Given the description of an element on the screen output the (x, y) to click on. 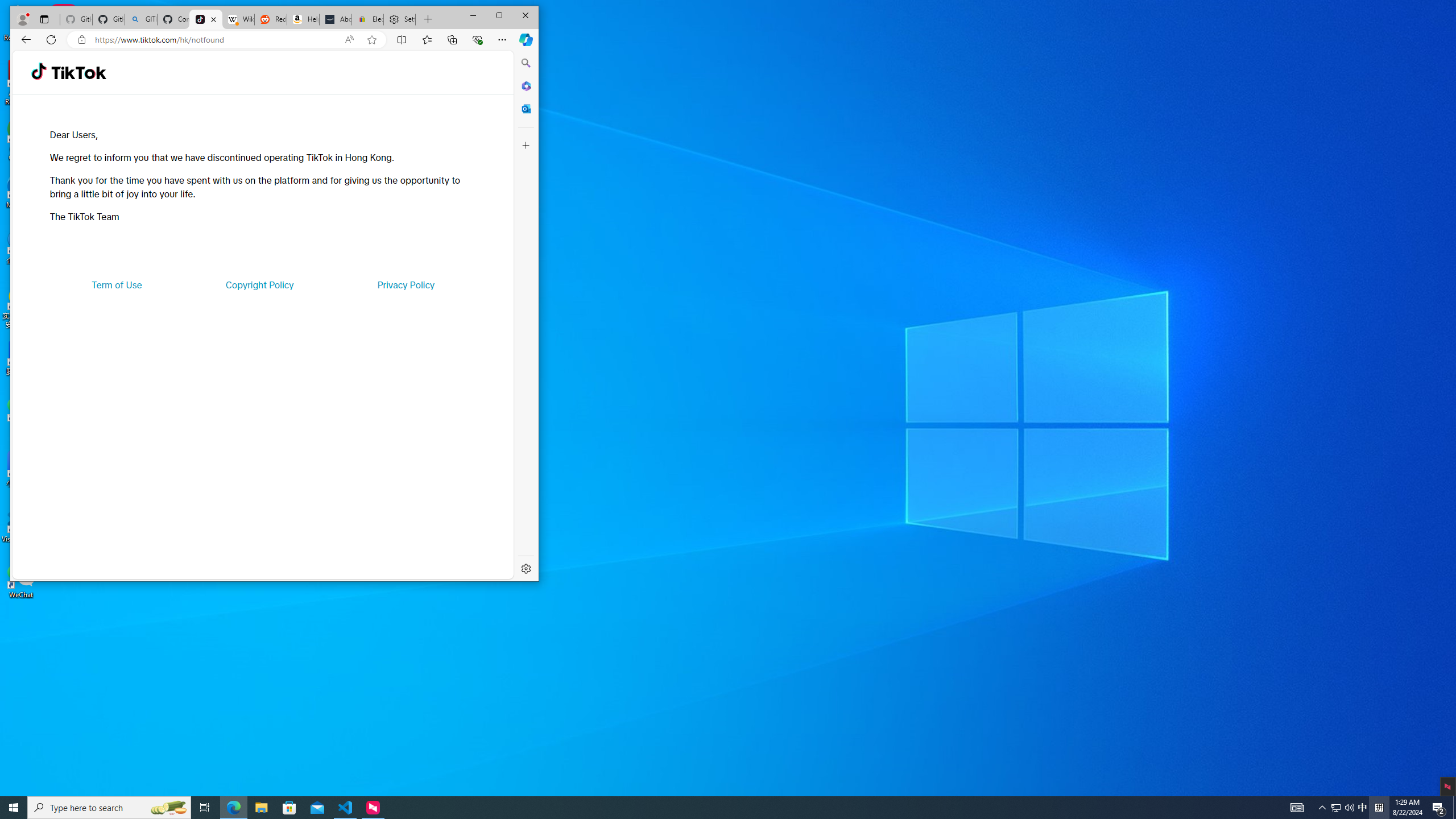
GITHUB - Search (140, 19)
Microsoft Edge - 1 running window (233, 807)
